Given the description of an element on the screen output the (x, y) to click on. 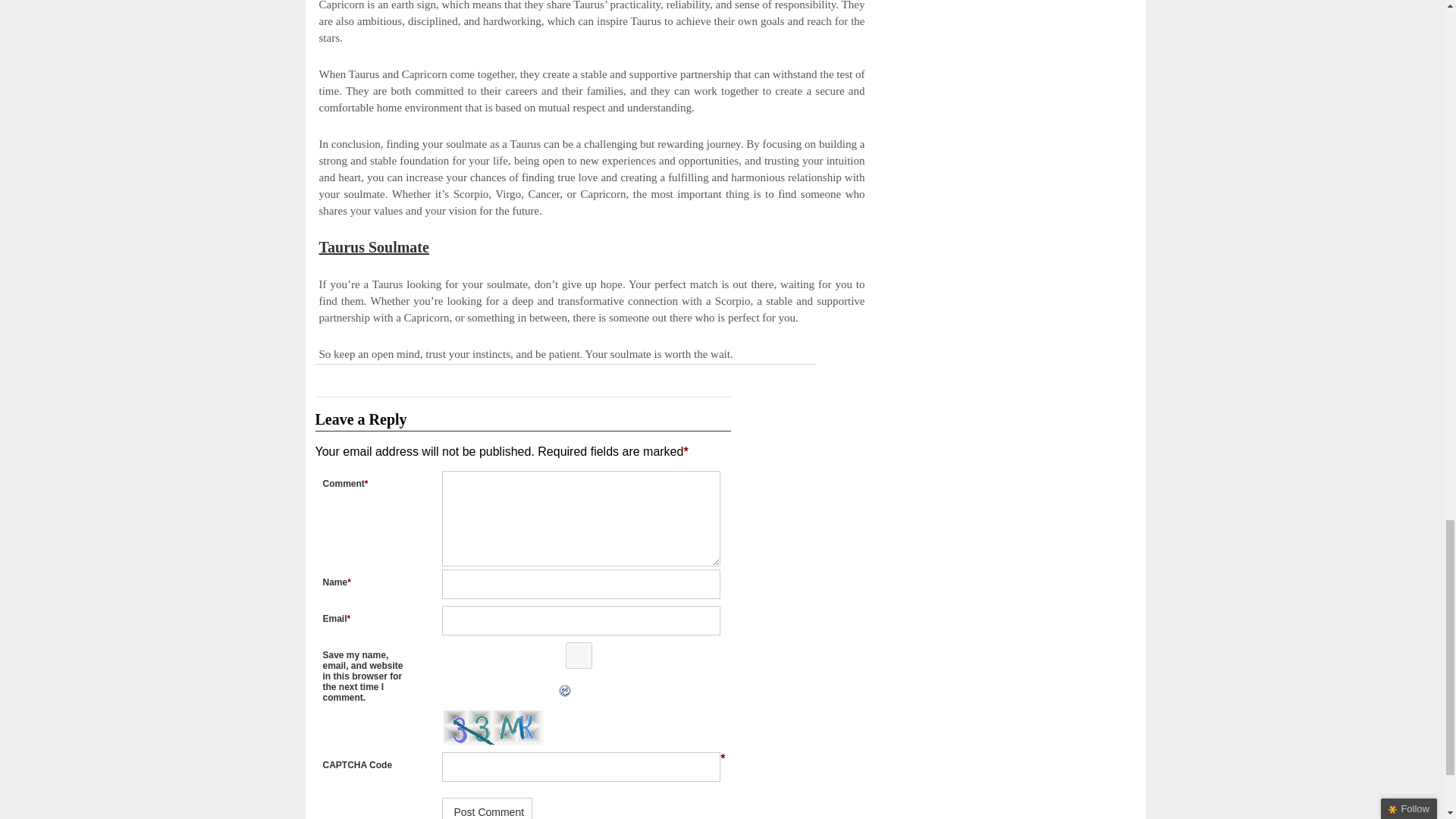
CAPTCHA (494, 727)
Refresh (437, 690)
Post Comment (486, 808)
Post Comment (486, 808)
yes (578, 655)
